Given the description of an element on the screen output the (x, y) to click on. 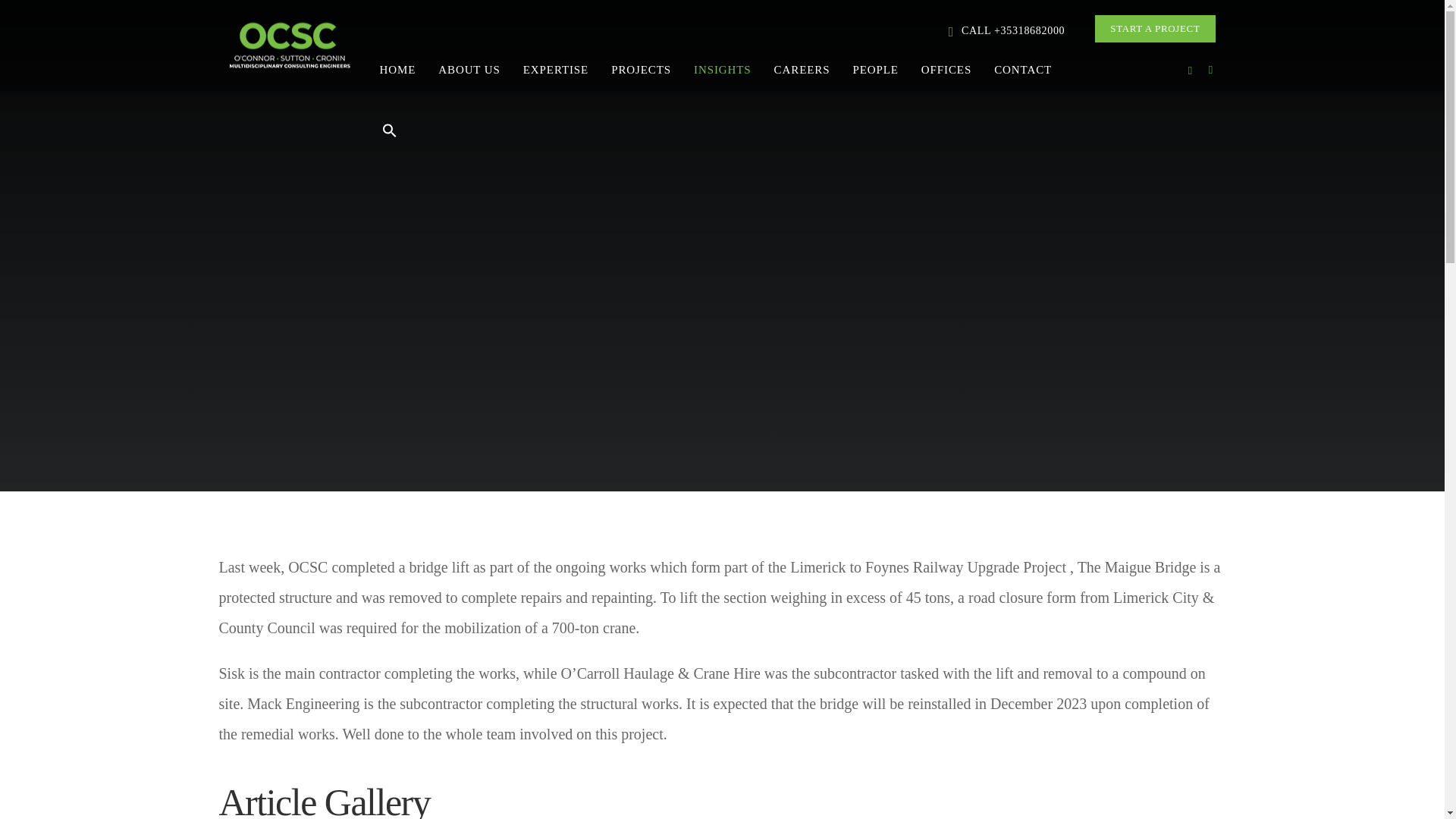
ABOUT US (469, 68)
OFFICES (946, 68)
CAREERS (801, 68)
START A PROJECT (1154, 28)
CONTACT (1022, 68)
EXPERTISE (555, 68)
INSIGHTS (722, 68)
PEOPLE (874, 68)
PROJECTS (640, 68)
